Given the description of an element on the screen output the (x, y) to click on. 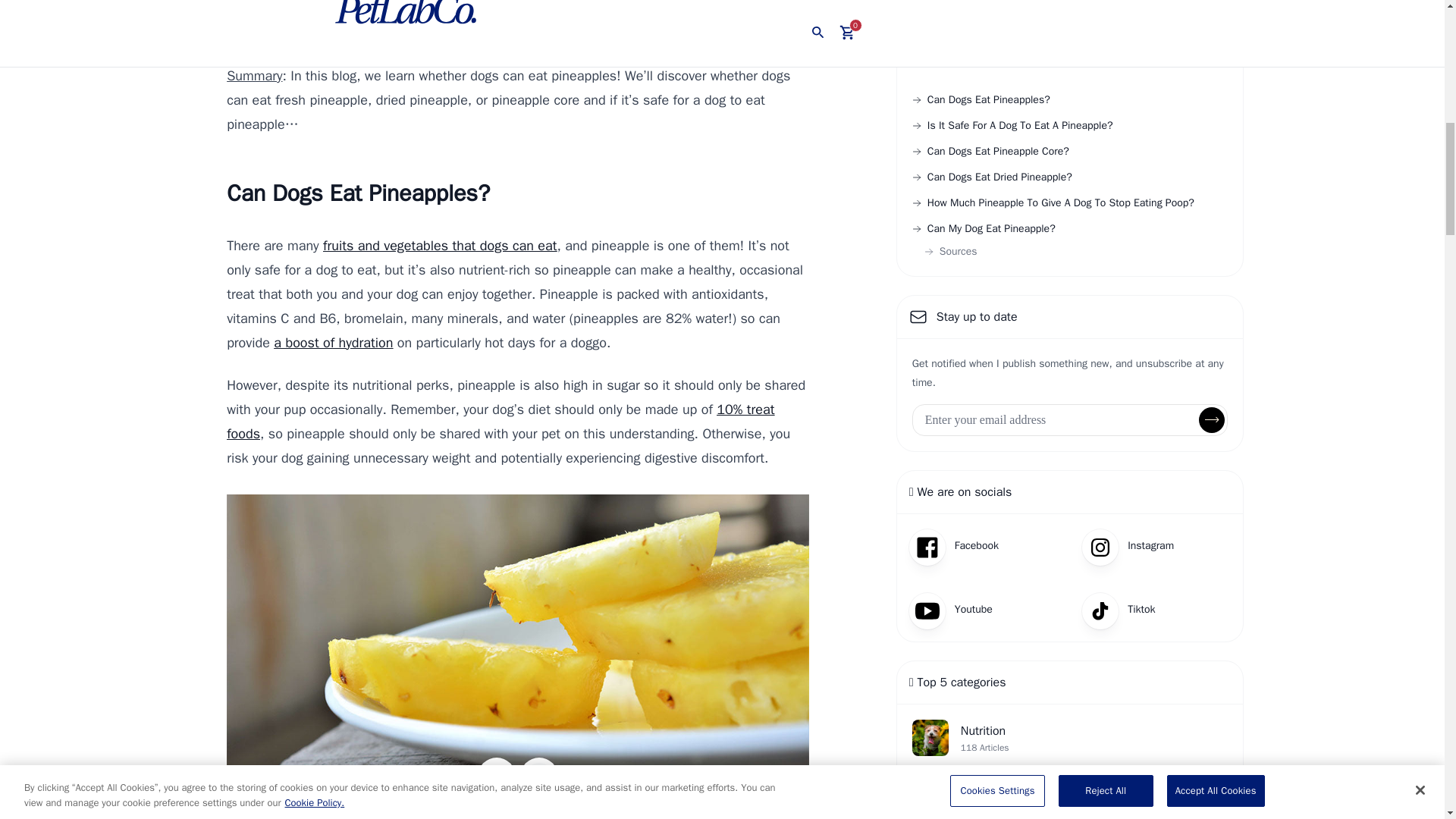
Go to top (497, 62)
a boost of hydration (333, 342)
Table of contents (539, 62)
Can Dogs Eat Dried Pineapple? (991, 177)
Is It Safe For A Dog To Eat A Pineapple? (1012, 125)
Can Dogs Eat Pineapple Core? (990, 151)
Can Dogs Eat Pineapples? (980, 99)
fruits and vegetables that dogs can eat (439, 245)
